Given the description of an element on the screen output the (x, y) to click on. 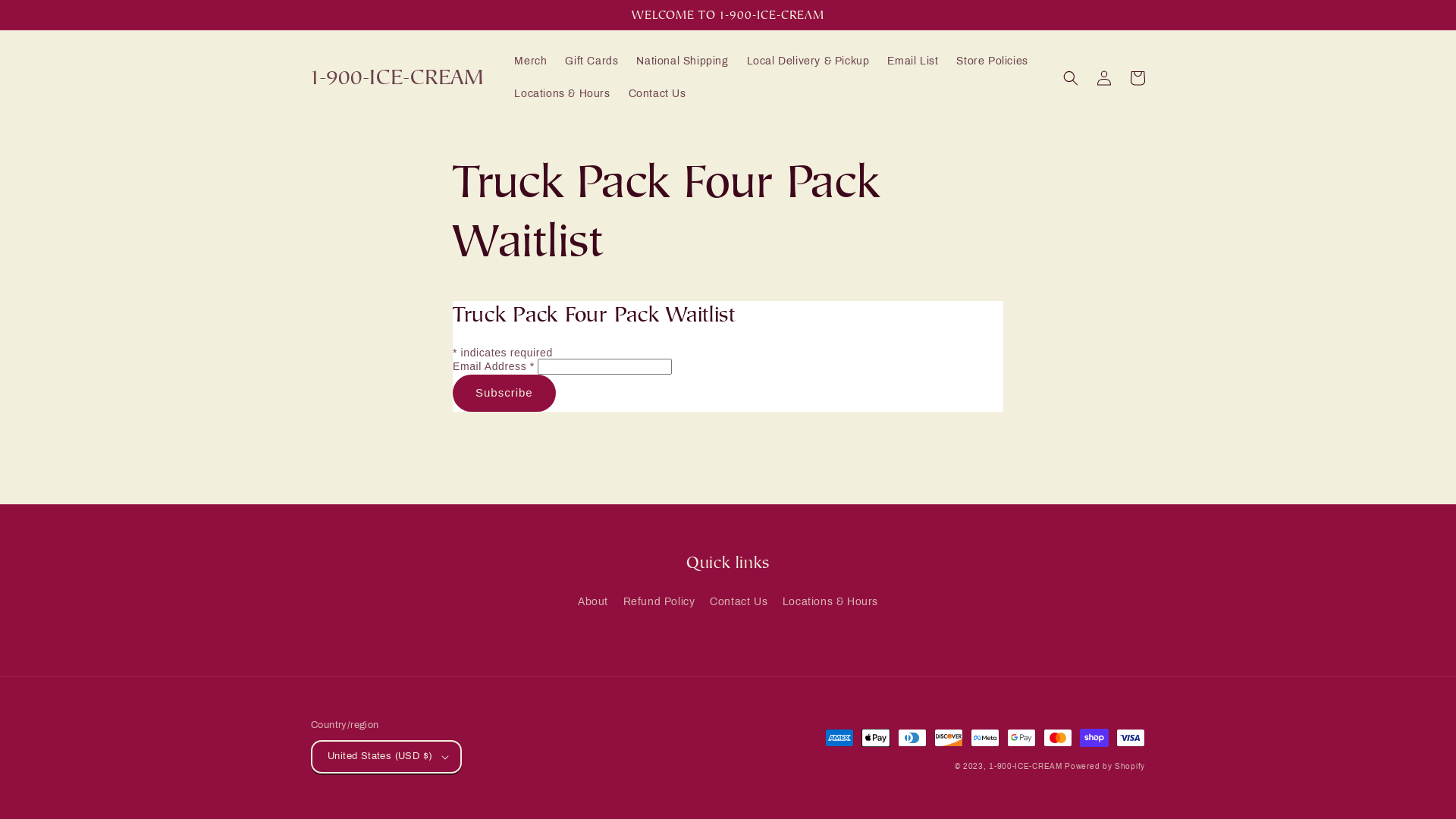
Cart Element type: text (1137, 77)
1-900-ICE-CREAM Element type: text (1025, 766)
Locations & Hours Element type: text (561, 93)
Log in Element type: text (1103, 77)
National Shipping Element type: text (682, 61)
Powered by Shopify Element type: text (1104, 766)
1-900-ICE-CREAM Element type: text (396, 77)
Contact Us Element type: text (657, 93)
Merch Element type: text (530, 61)
About Element type: text (592, 603)
United States (USD $) Element type: text (385, 756)
Local Delivery & Pickup Element type: text (807, 61)
Store Policies Element type: text (991, 61)
Contact Us Element type: text (738, 601)
Subscribe Element type: text (503, 392)
Gift Cards Element type: text (591, 61)
Refund Policy Element type: text (659, 601)
Locations & Hours Element type: text (830, 601)
Email List Element type: text (912, 61)
